Given the description of an element on the screen output the (x, y) to click on. 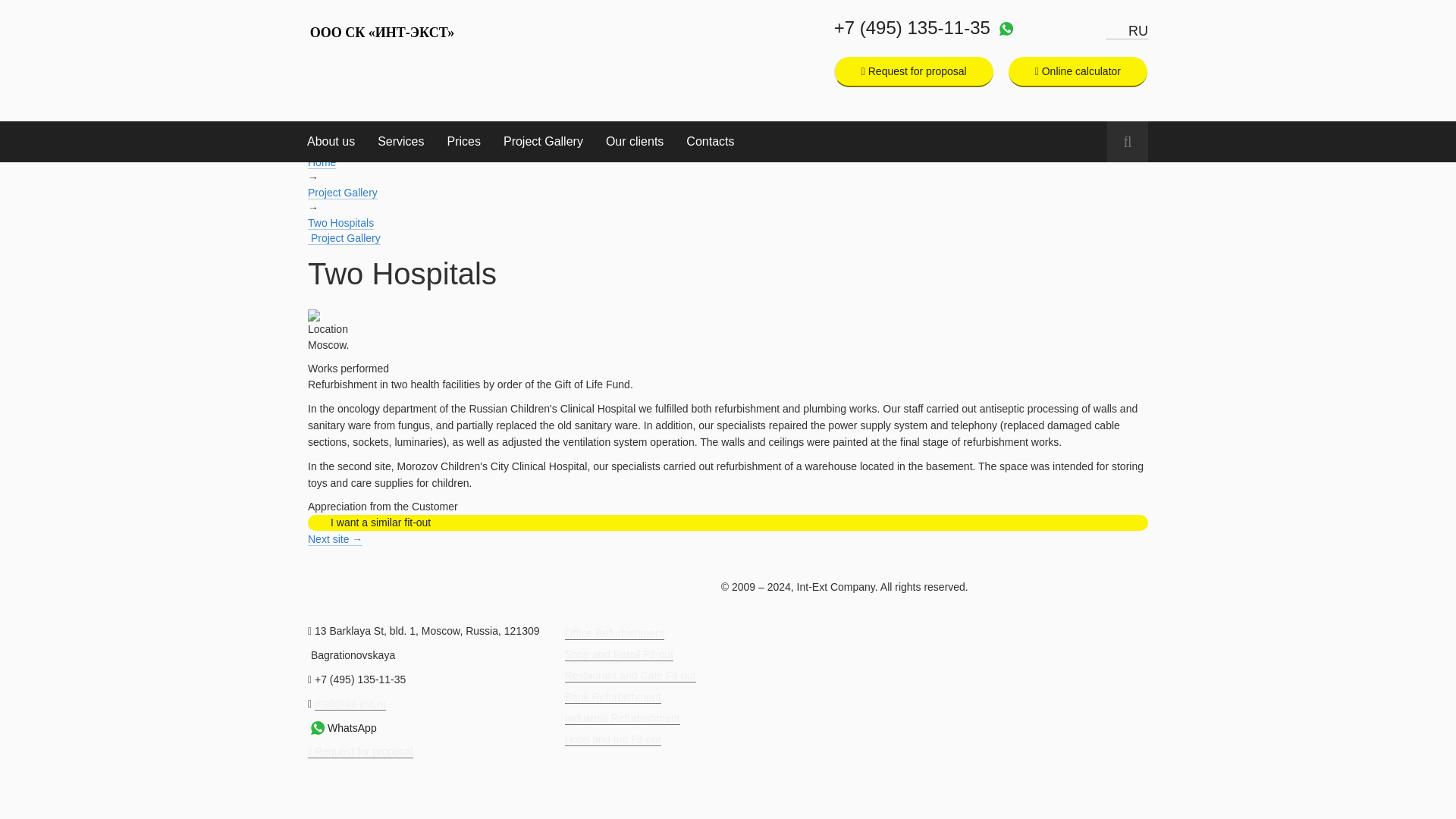
RU (1126, 31)
GQ Bar (334, 539)
Services (400, 141)
Request for proposal (913, 70)
Two Hospitals (727, 315)
About us (330, 141)
Online calculator (1078, 70)
